Given the description of an element on the screen output the (x, y) to click on. 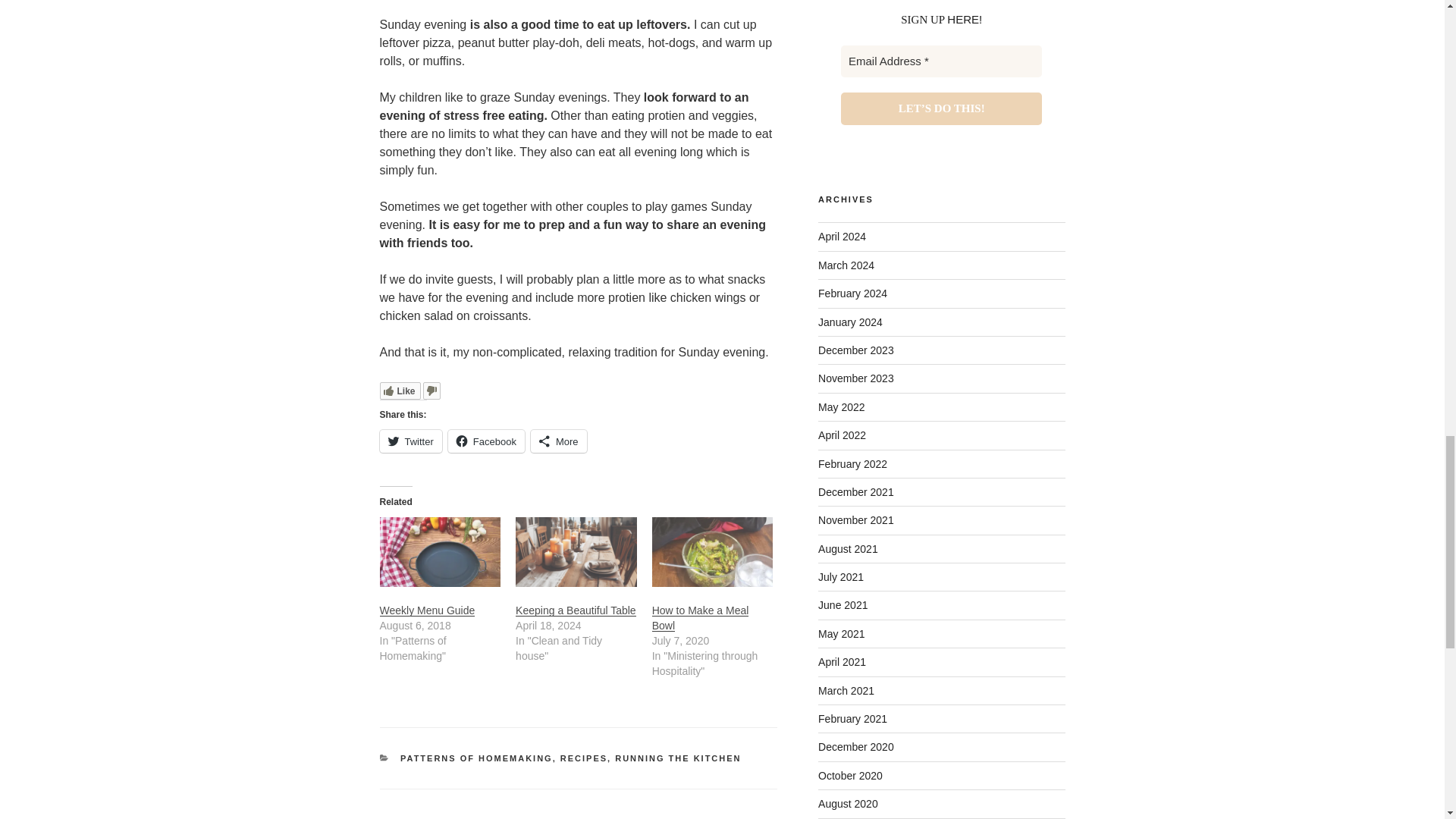
Click to share on Facebook (486, 440)
Click to share on Twitter (409, 440)
Keeping a Beautiful Table (576, 551)
Weekly Menu Guide (426, 610)
Email Address (941, 60)
How to Make a Meal Bowl (700, 617)
Keeping a Beautiful Table (575, 610)
How to Make a Meal Bowl (712, 551)
Weekly Menu Guide (439, 551)
